Given the description of an element on the screen output the (x, y) to click on. 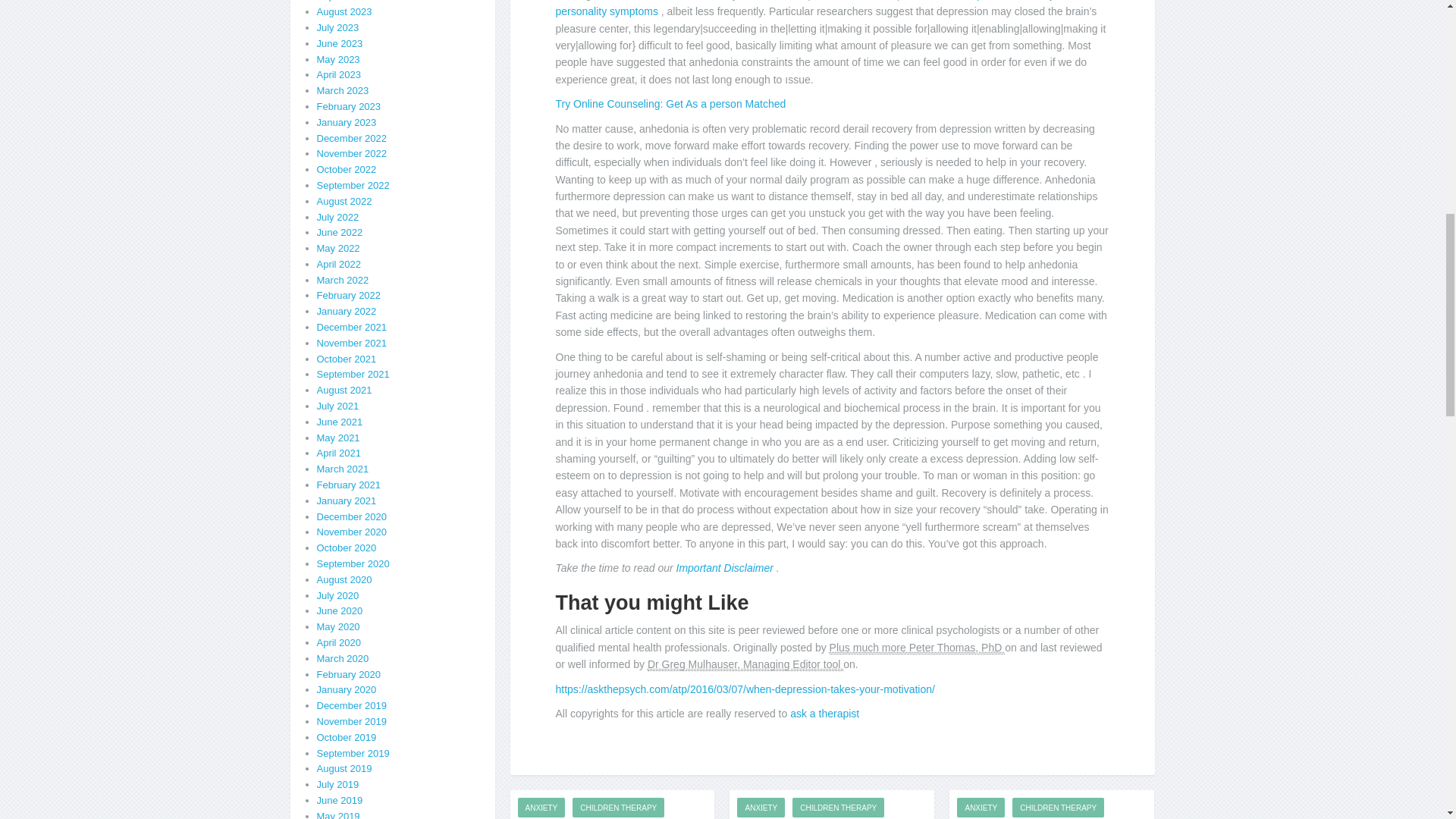
Try Online Counseling: Get As a person Matched (670, 103)
Important Disclaimer (726, 567)
ANXIETY (540, 807)
schizophrenia (980, 0)
CHILDREN THERAPY (617, 807)
Dr Greg Mulhauser, Managing Editor (745, 664)
Dr Peter Thomas, PhD (917, 647)
personality symptoms (607, 10)
ANXIETY (760, 807)
ask a therapist (824, 713)
